Given the description of an element on the screen output the (x, y) to click on. 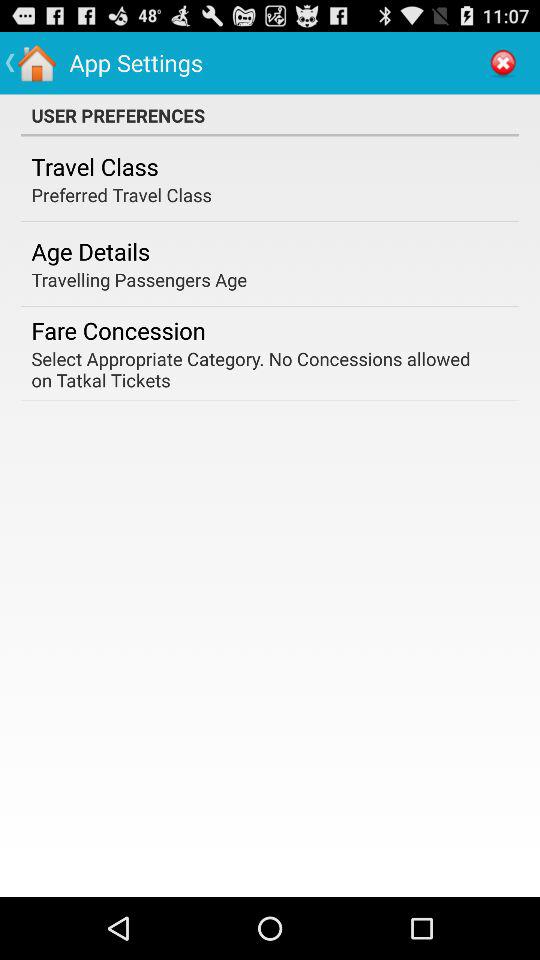
flip until user preferences icon (270, 115)
